Given the description of an element on the screen output the (x, y) to click on. 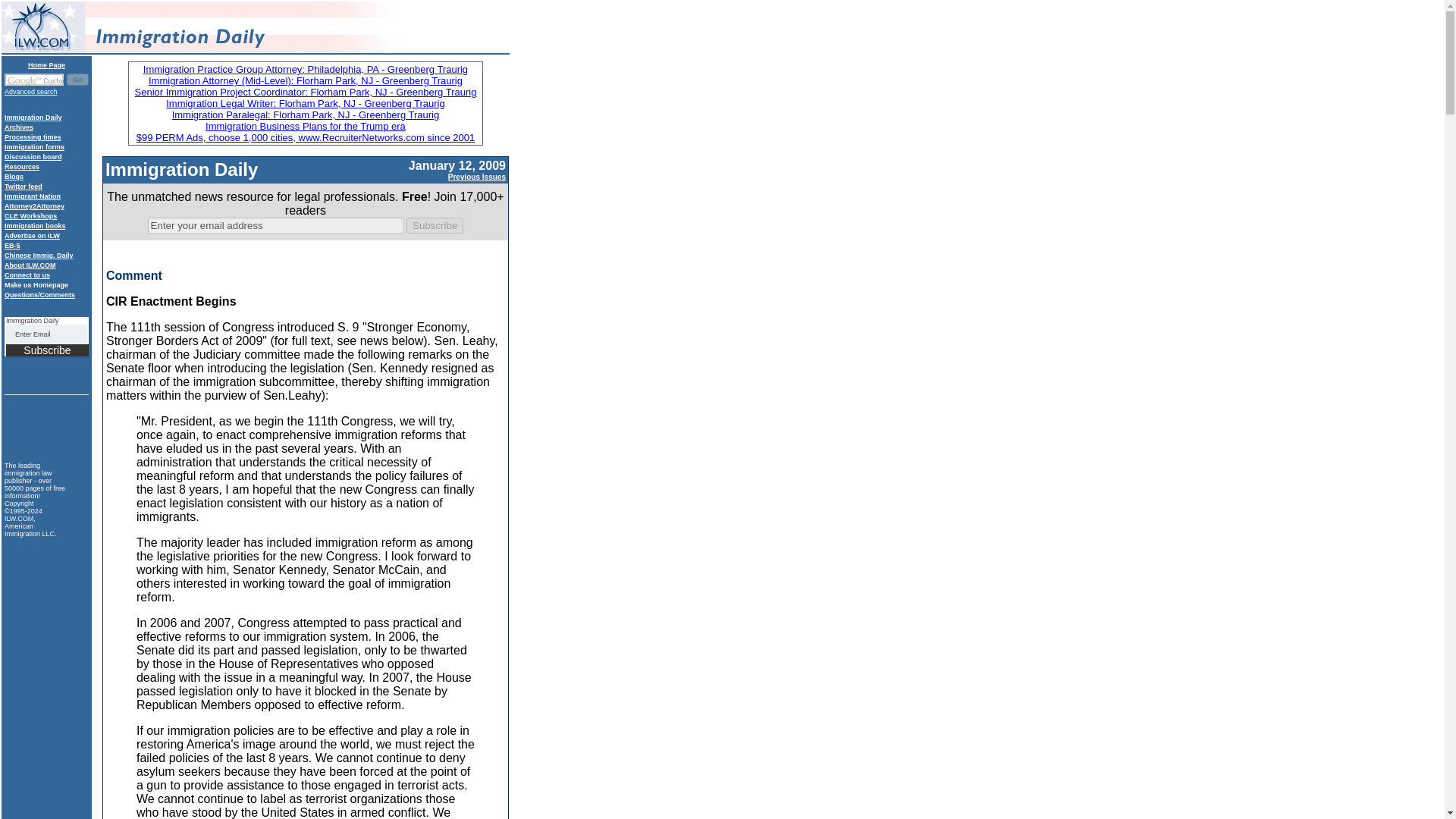
Resources (21, 166)
Advertise on ILW (31, 235)
Immigration Paralegal: Florham Park, NJ - Greenberg Traurig (305, 114)
Subscribe (46, 349)
Immigration Daily (33, 117)
Archives (18, 127)
Subscribe (46, 349)
CLE Workshops (30, 216)
Connect to us (26, 275)
About ILW.COM (30, 265)
